Given the description of an element on the screen output the (x, y) to click on. 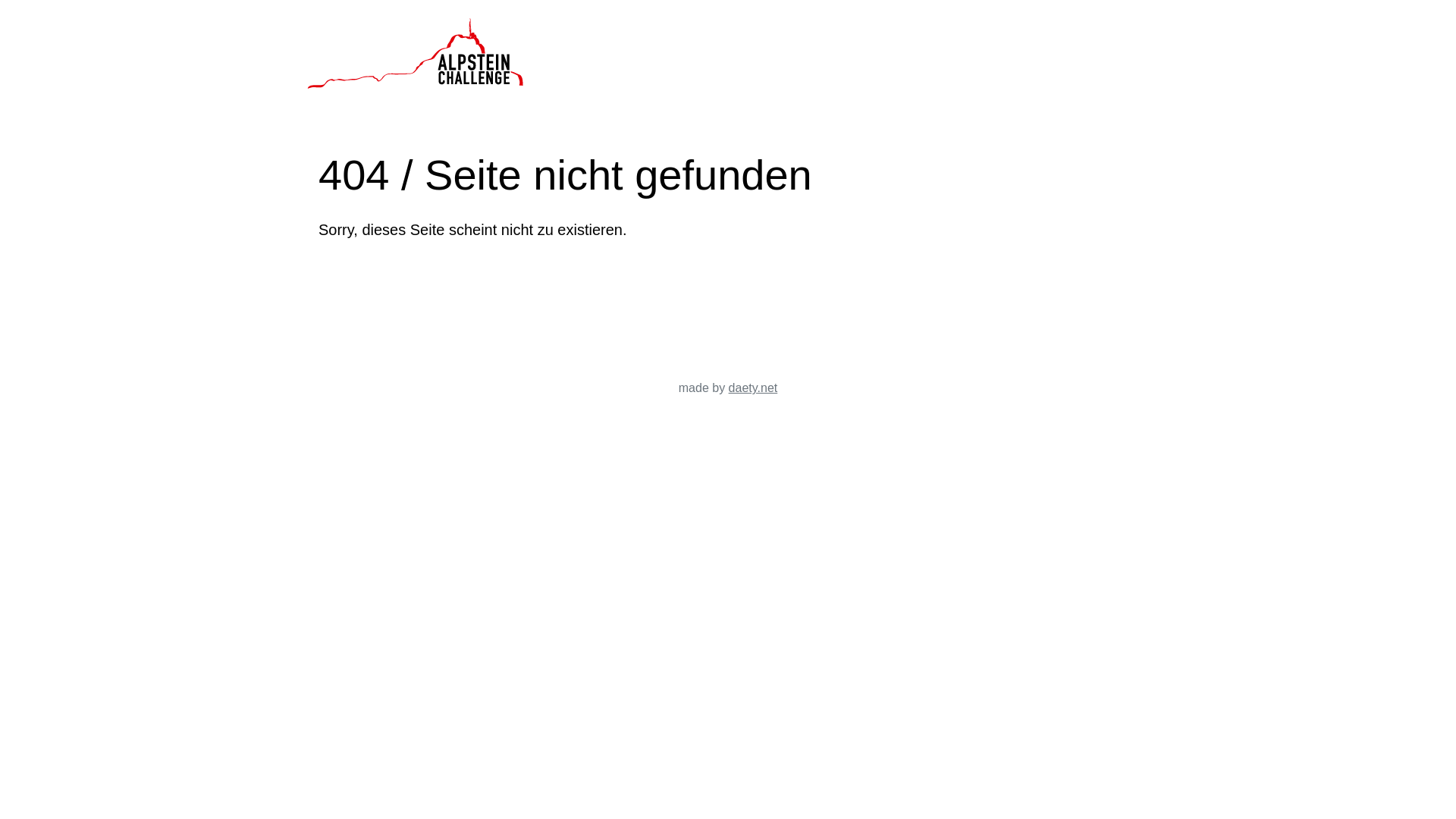
daety.net Element type: text (753, 387)
